Given the description of an element on the screen output the (x, y) to click on. 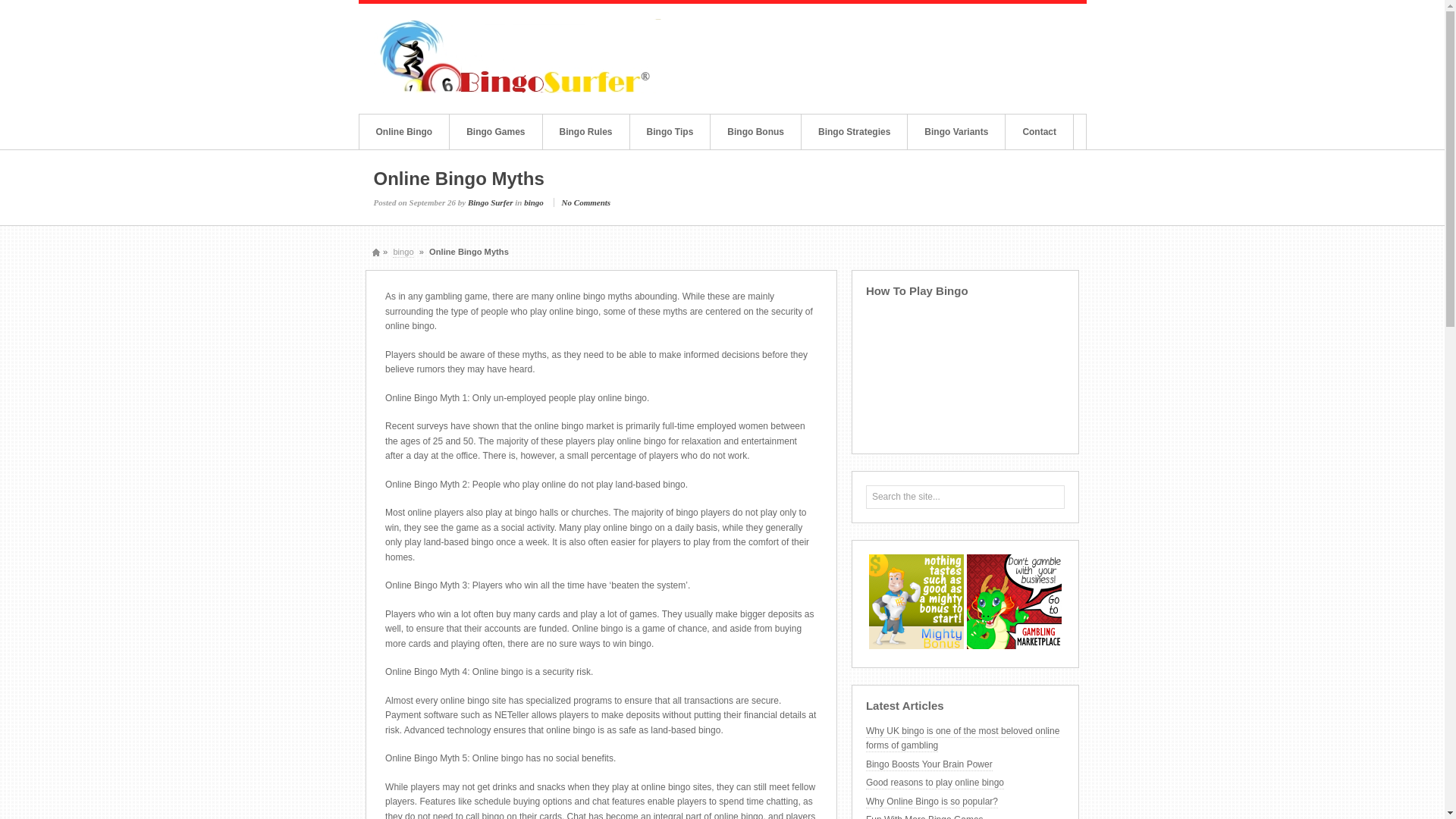
No Comments (586, 202)
Contact (1039, 130)
Bingo Rules (585, 130)
Bingo Boosts Your Brain Power (929, 764)
View all posts by Bingo Surfer (490, 202)
Bingo Surfer (490, 202)
bingo (403, 251)
Search the site... (933, 496)
Bingo Strategies (854, 130)
Home (376, 252)
Fun With More Bingo Games (925, 816)
Bingo Bonus (755, 130)
Online Bingo (404, 130)
Bingo Variants (955, 130)
Bingo Games (495, 130)
